Given the description of an element on the screen output the (x, y) to click on. 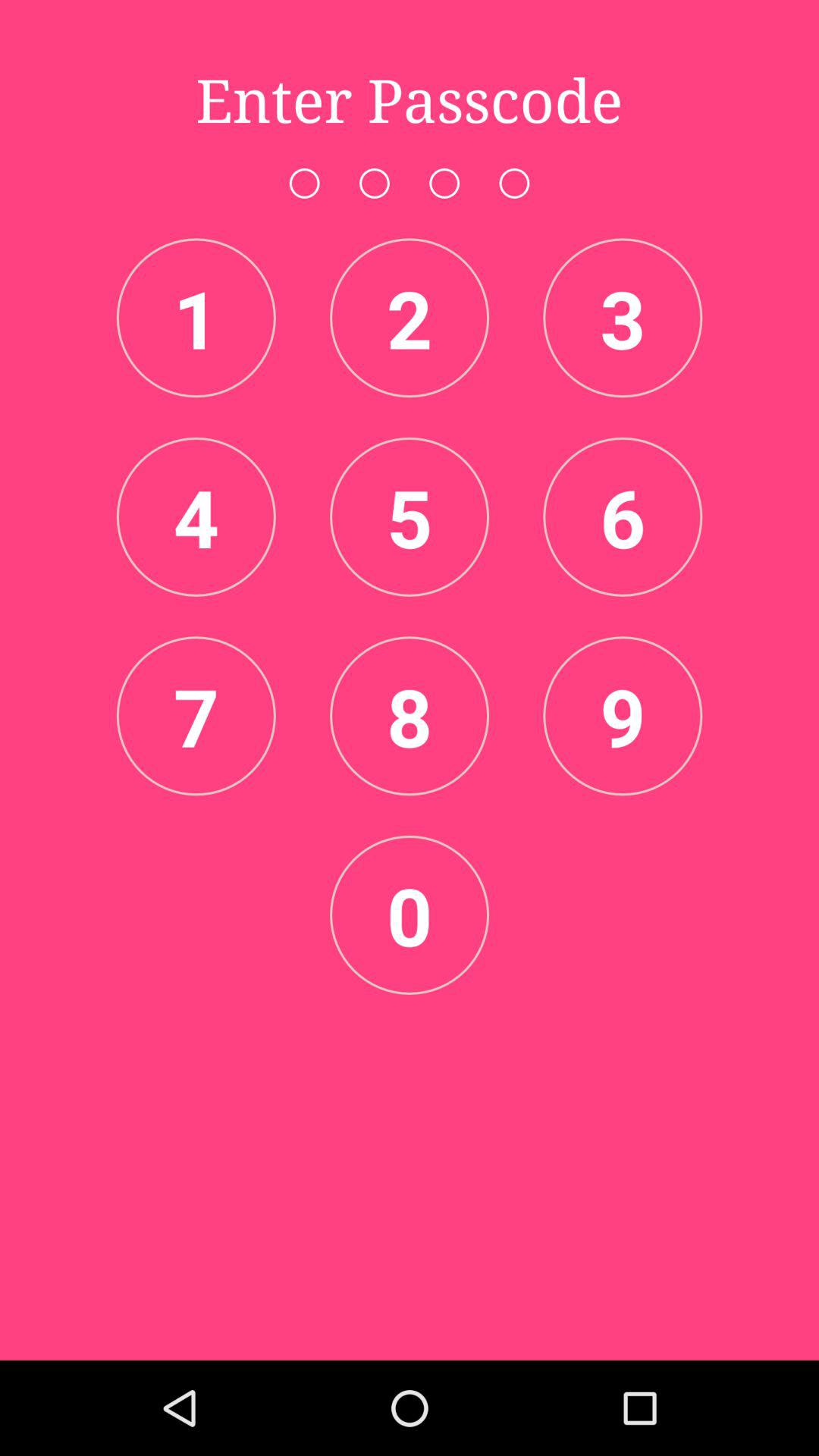
select 0 icon (409, 914)
